Given the description of an element on the screen output the (x, y) to click on. 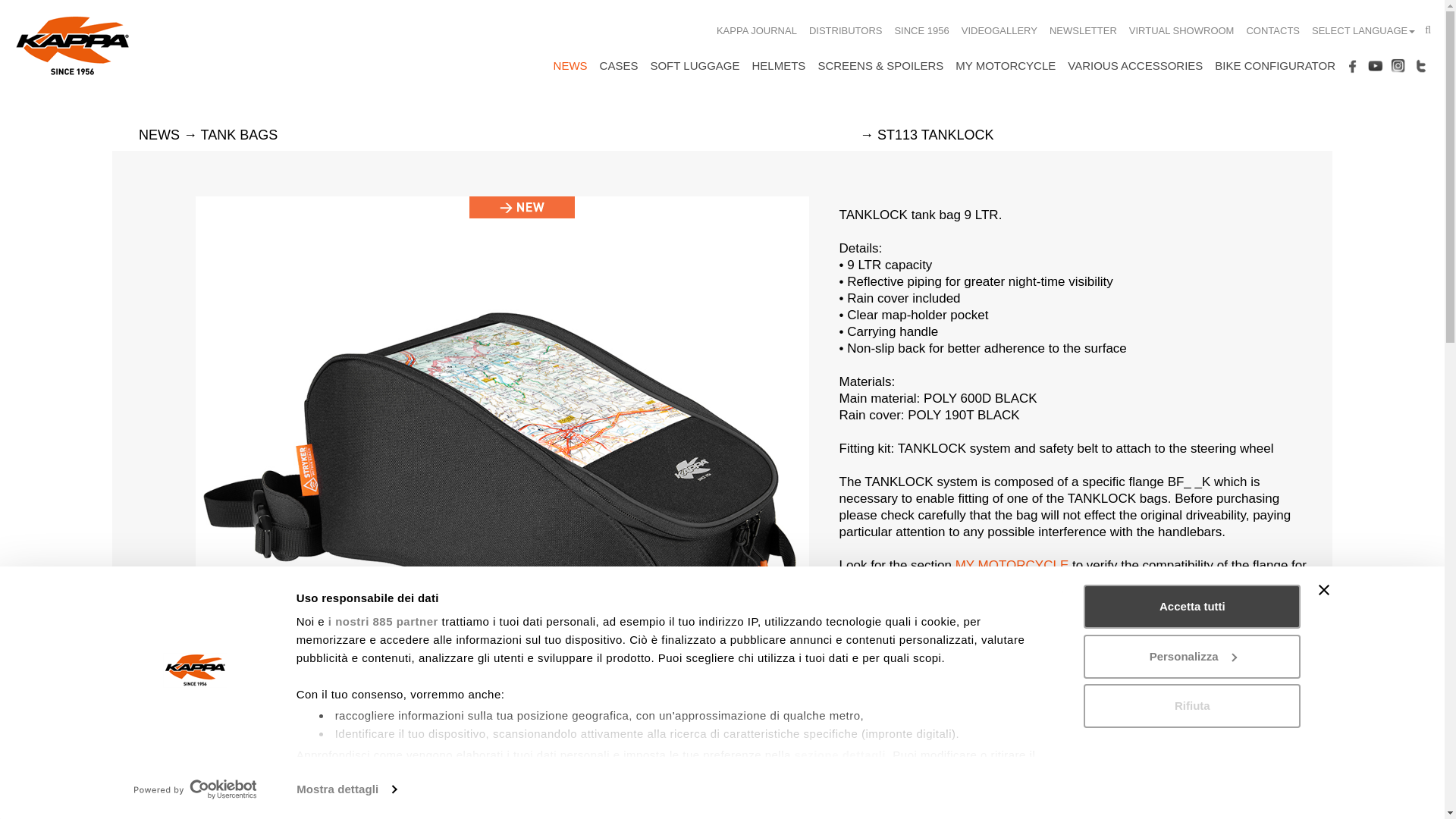
i nostri 885 partner (383, 621)
sezione dettagli (840, 754)
Mostra dettagli (346, 789)
